Given the description of an element on the screen output the (x, y) to click on. 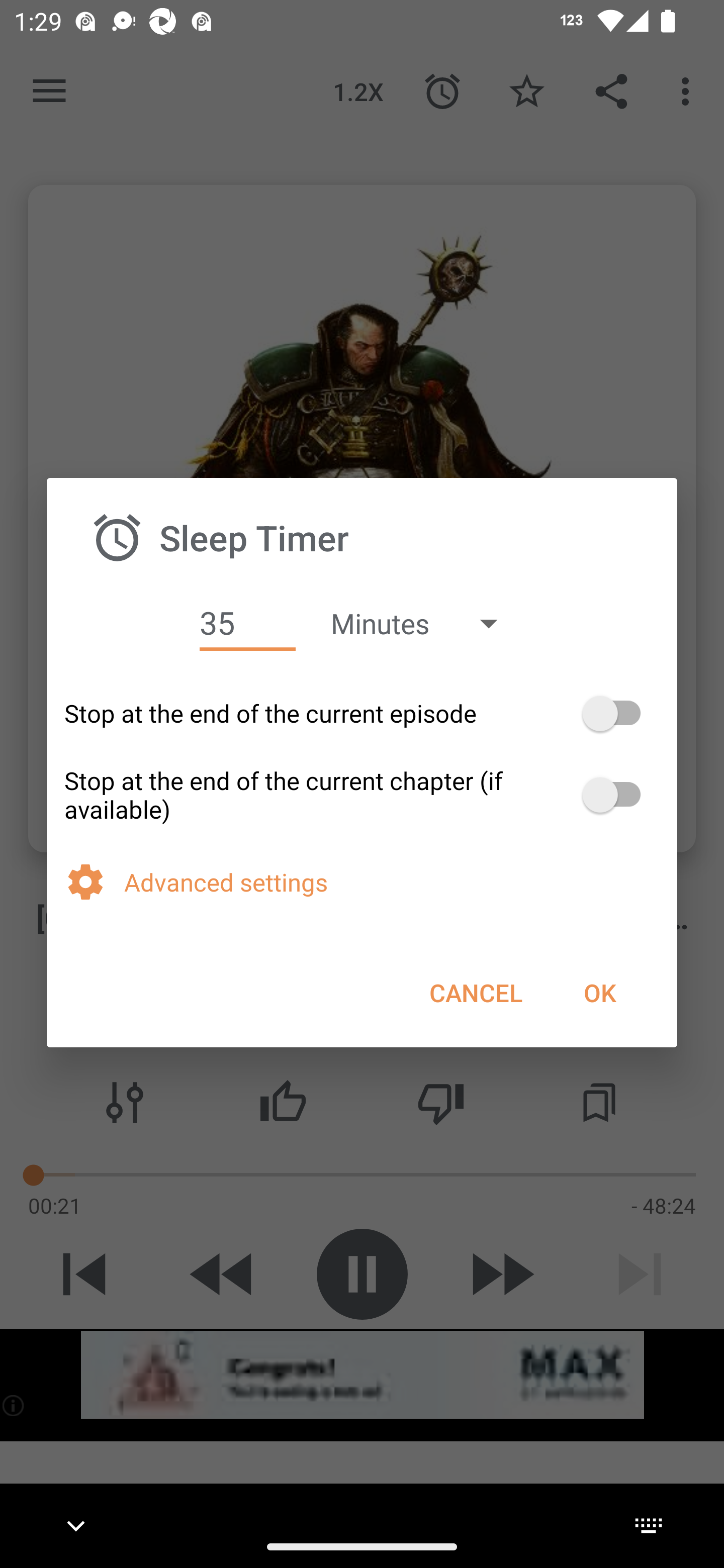
35 (247, 623)
Minutes (423, 623)
Stop at the end of the current episode (361, 712)
Advanced settings (391, 881)
CANCEL (475, 992)
OK (599, 992)
